Given the description of an element on the screen output the (x, y) to click on. 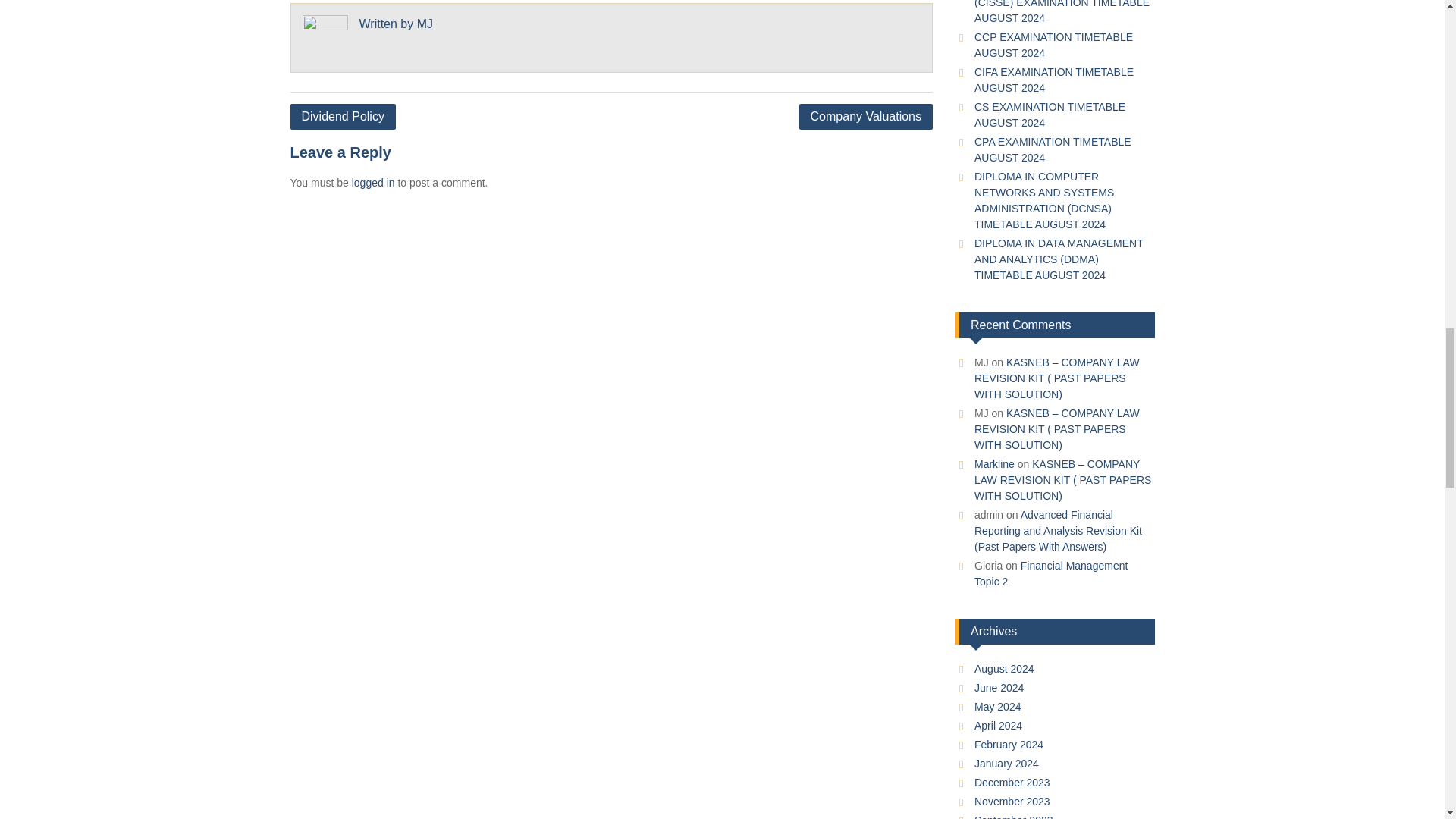
Company Valuations (866, 116)
logged in (373, 182)
MJ (424, 23)
Dividend Policy (341, 116)
Posts by MJ (424, 23)
